Given the description of an element on the screen output the (x, y) to click on. 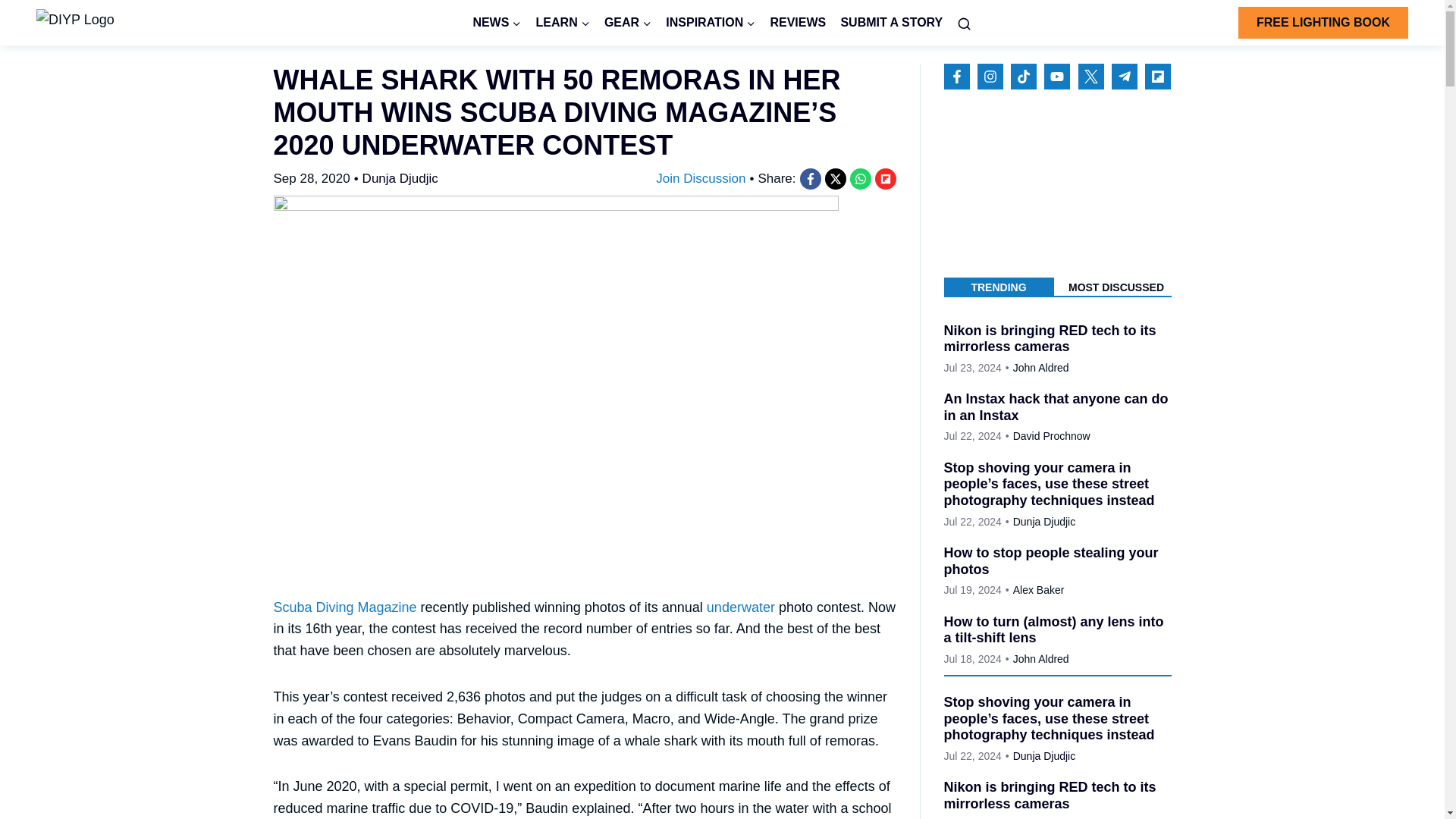
NEWS (496, 22)
